Given the description of an element on the screen output the (x, y) to click on. 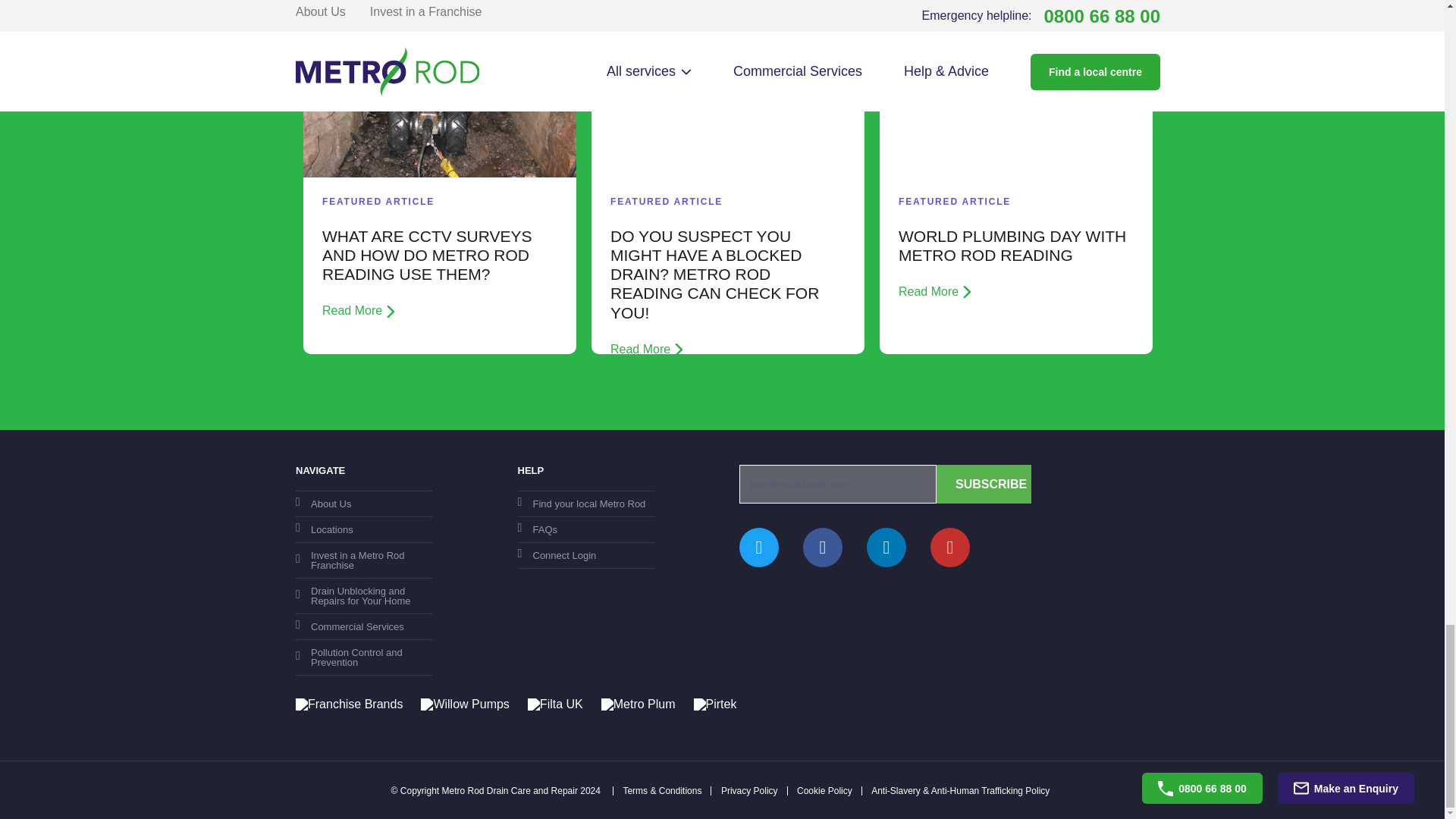
SUBSCRIBE (983, 484)
